Given the description of an element on the screen output the (x, y) to click on. 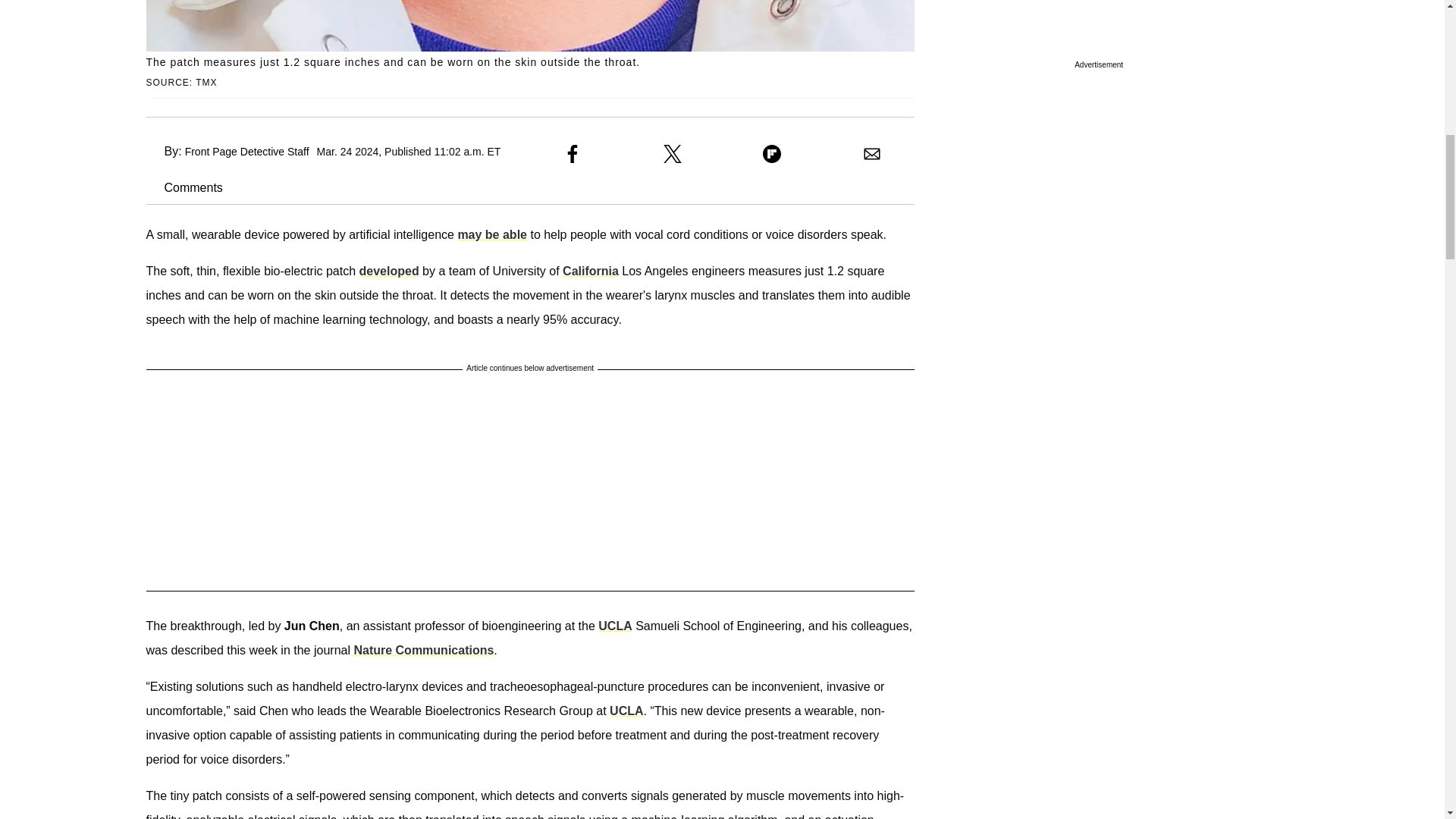
Front Page Detective Staff (246, 151)
Share to X (672, 153)
Share to Email (871, 153)
Share to Facebook (571, 153)
developed (389, 270)
Nature Communications (421, 649)
California (590, 270)
UCLA (626, 710)
Comments (183, 187)
may be able (492, 234)
